Given the description of an element on the screen output the (x, y) to click on. 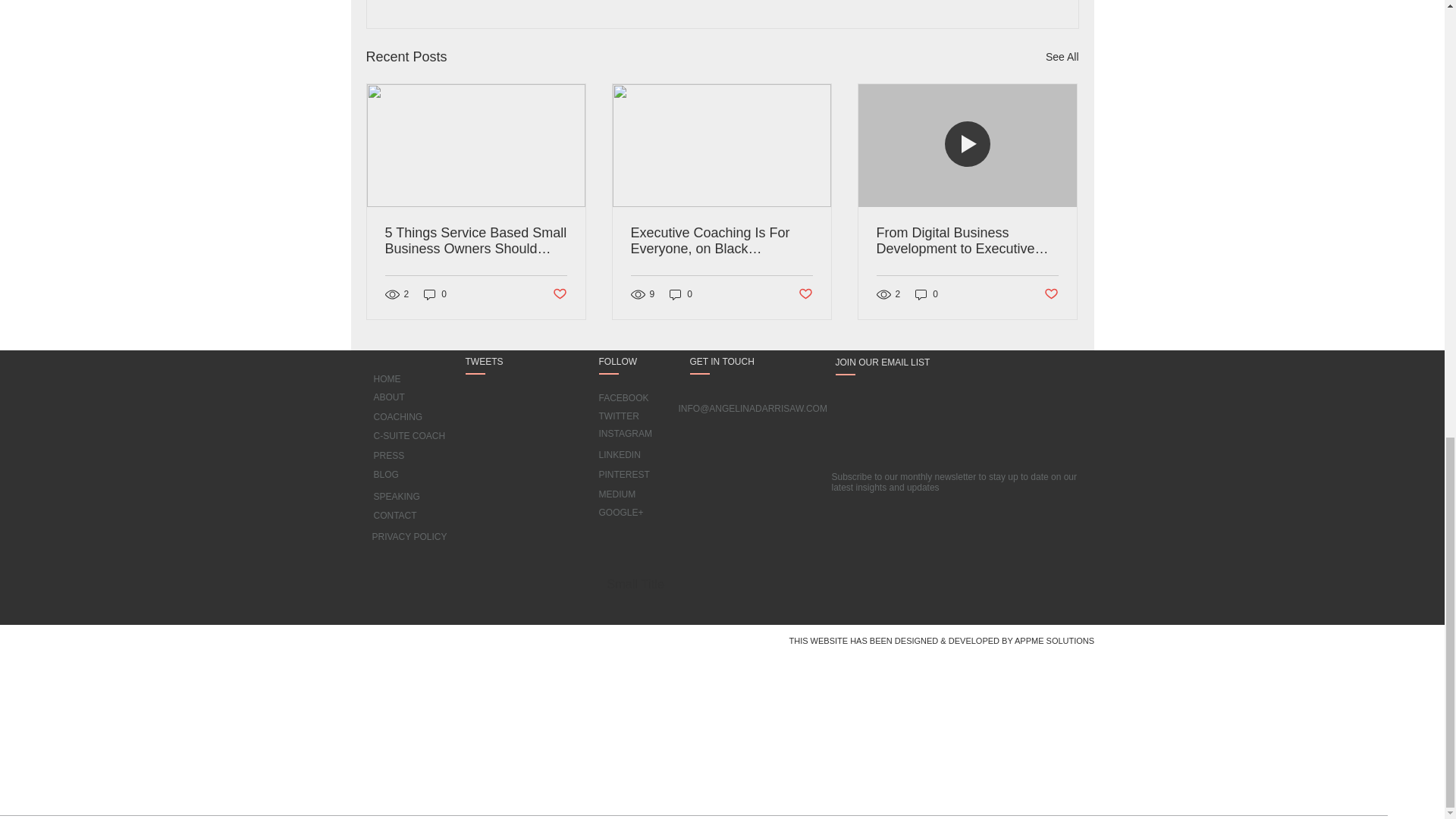
TWEETS (494, 361)
FOLLOW (630, 361)
From Digital Business Development to Executive Coaching CEO (967, 241)
Executive Coaching Is For Everyone, on Black Enterprise (721, 241)
0 (926, 294)
Post not marked as liked (558, 293)
HOME (386, 379)
Post not marked as liked (804, 293)
0 (435, 294)
